Given the description of an element on the screen output the (x, y) to click on. 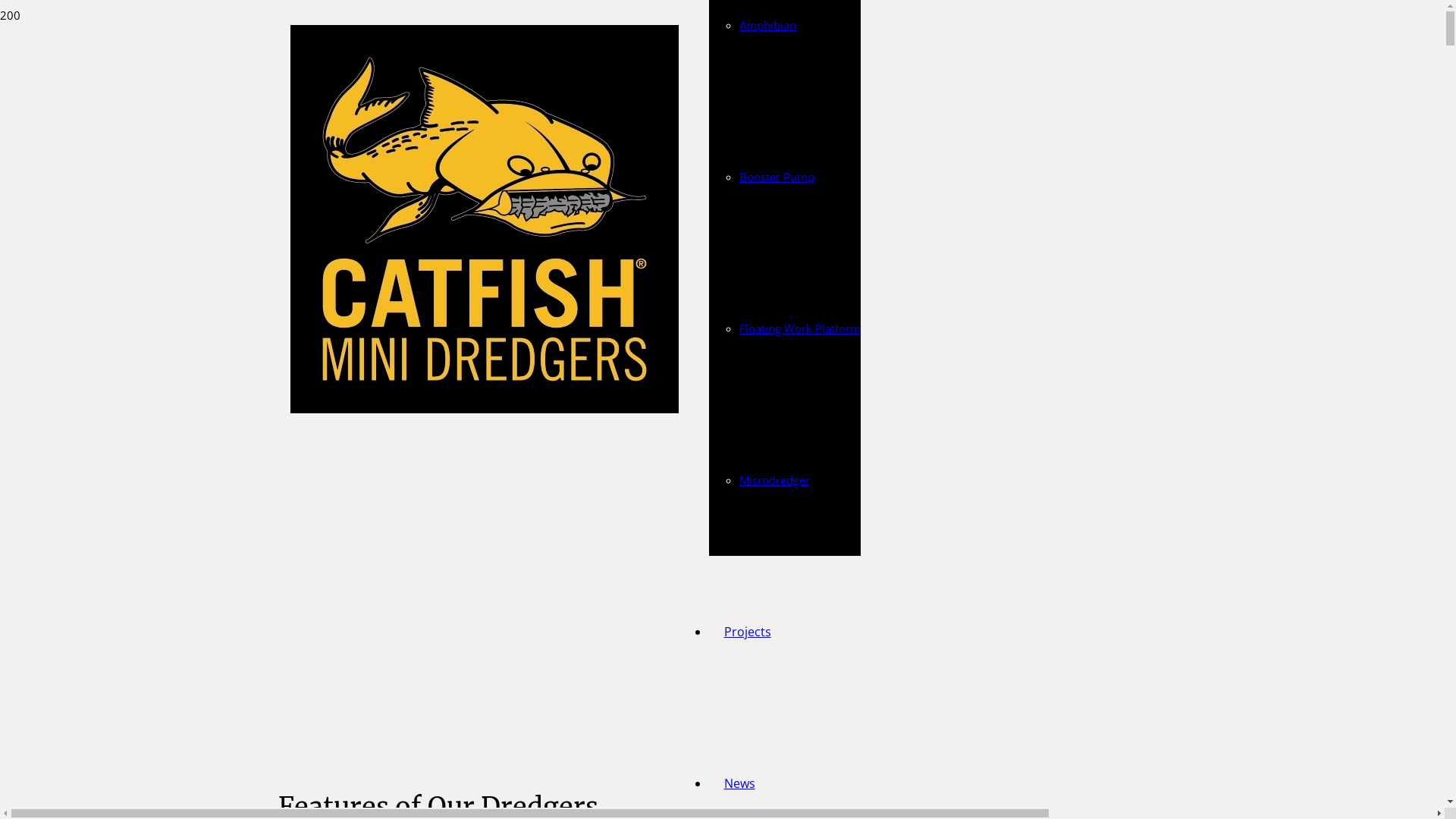
Amphibian Element type: text (766, 24)
Booster Pump Element type: text (775, 176)
Projects Element type: text (746, 631)
News Element type: text (738, 783)
Floating Work Platform Element type: text (798, 327)
Microdredger Element type: text (773, 479)
